Given the description of an element on the screen output the (x, y) to click on. 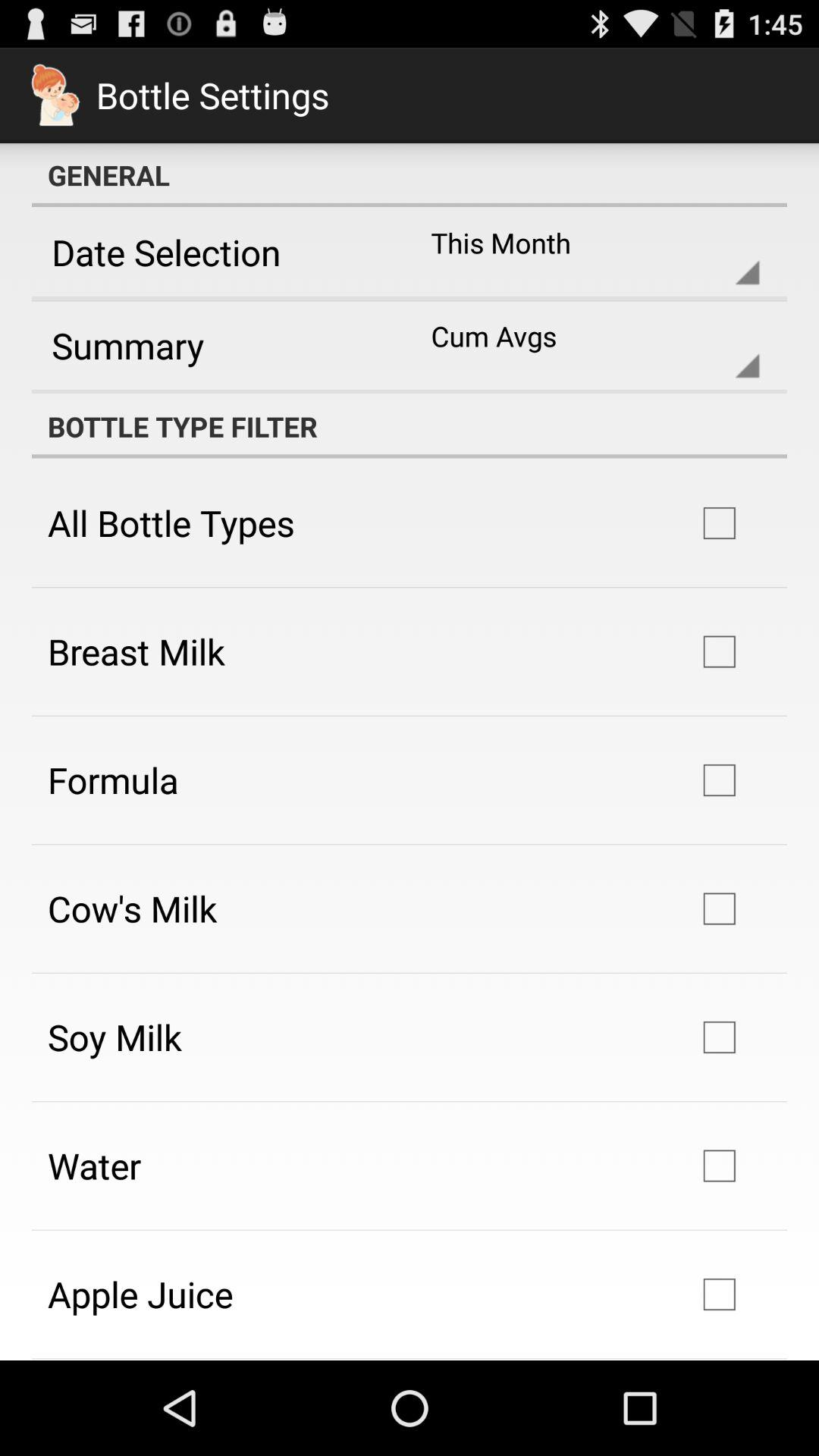
flip until the water app (94, 1165)
